Given the description of an element on the screen output the (x, y) to click on. 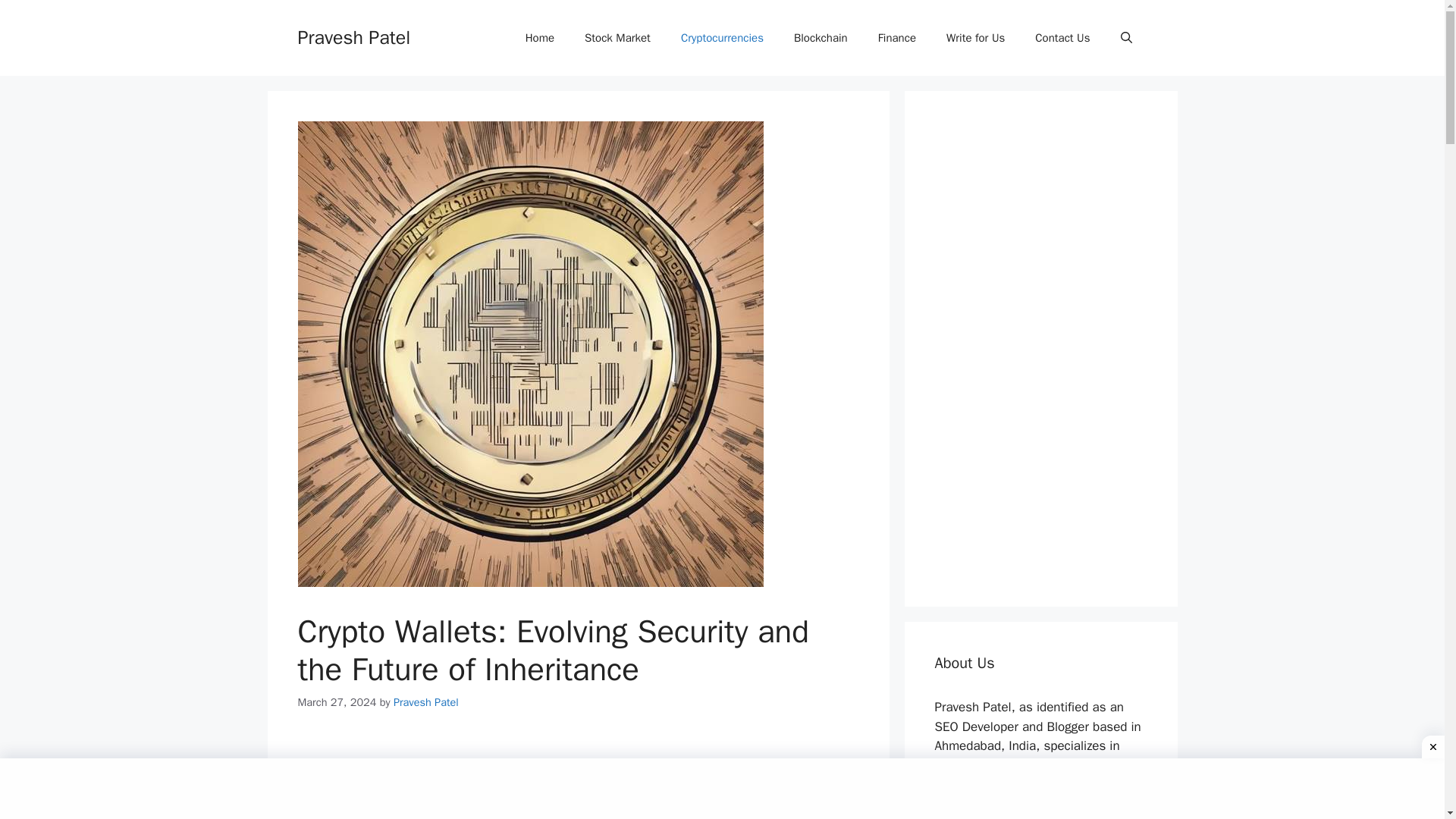
Advertisement (578, 778)
Cryptocurrencies (721, 37)
View all posts by Pravesh Patel (425, 702)
Pravesh Patel (425, 702)
Home (540, 37)
Write for Us (975, 37)
Blockchain (820, 37)
Pravesh Patel (353, 37)
Finance (897, 37)
Stock Market (617, 37)
